Given the description of an element on the screen output the (x, y) to click on. 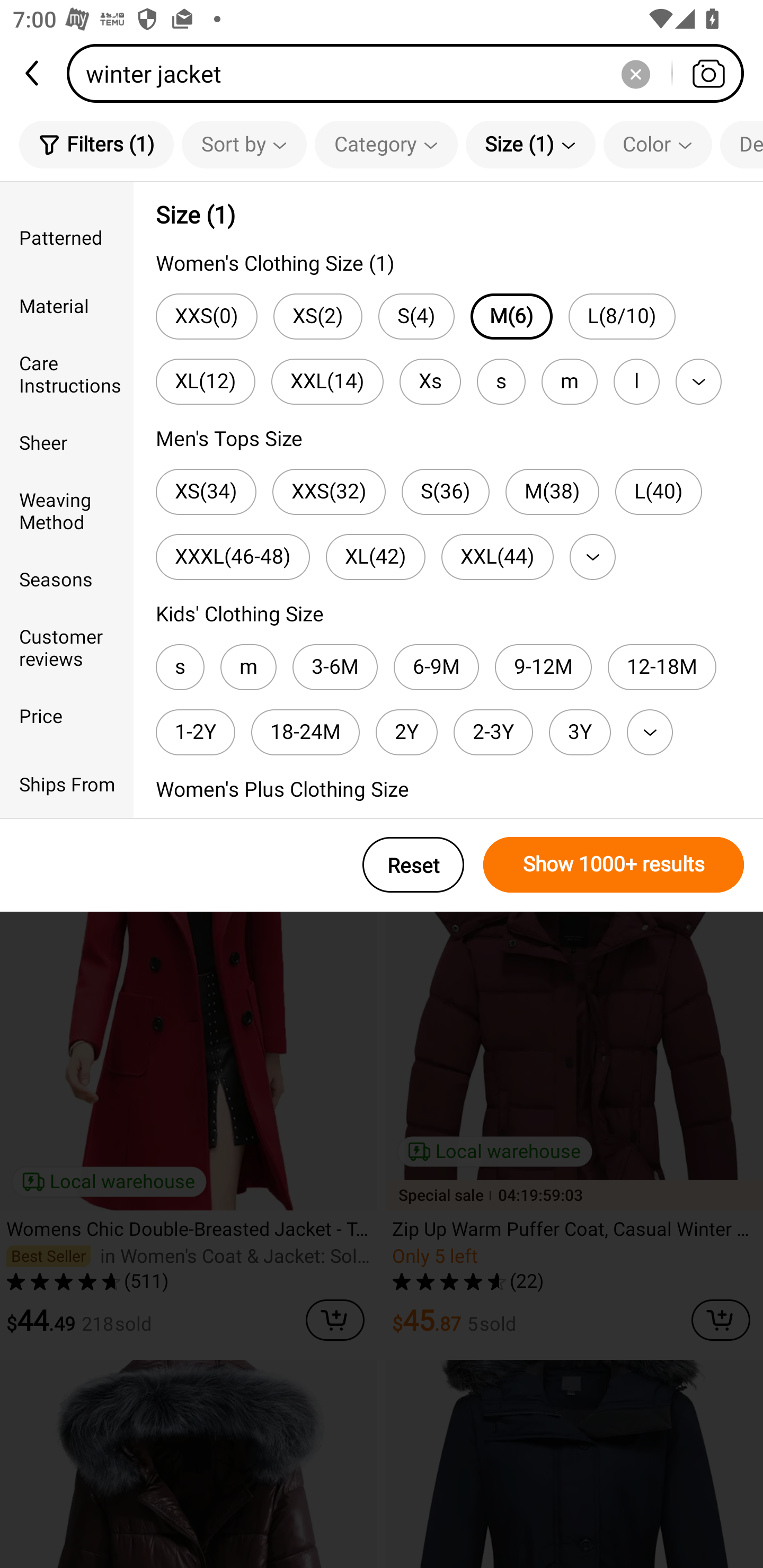
back (33, 72)
winter jacket (411, 73)
Delete search history (635, 73)
Search by photo (708, 73)
Filters (1) (96, 143)
Sort by (243, 143)
Category (385, 143)
Size (1) (530, 143)
Color (657, 143)
Patterned (66, 236)
Material (66, 305)
XXS(0) (206, 316)
XS(2) (317, 316)
S(4) (416, 316)
M(6) (511, 316)
L(8/10) (621, 316)
Care Instructions (66, 373)
XL(12) (205, 381)
XXL(14) (327, 381)
Xs (429, 381)
s (500, 381)
m (569, 381)
l (636, 381)
More (698, 381)
Sheer (66, 441)
XS(34) (205, 491)
XXS(32) (329, 491)
S(36) (445, 491)
M(38) (551, 491)
L(40) (657, 491)
Weaving Method (66, 510)
XXXL(46-48) (232, 557)
XL(42) (375, 557)
XXL(44) (497, 557)
More (592, 557)
Seasons (66, 578)
Customer reviews (66, 646)
s (179, 666)
m (248, 666)
3-6M (334, 666)
6-9M (436, 666)
9-12M (543, 666)
12-18M (662, 666)
Price (66, 714)
1-2Y (195, 731)
18-24M (305, 731)
2Y (406, 731)
2-3Y (493, 731)
3Y (579, 731)
More (649, 731)
Ships From (66, 783)
Reset (412, 864)
Show 1000+ results (612, 864)
